Given the description of an element on the screen output the (x, y) to click on. 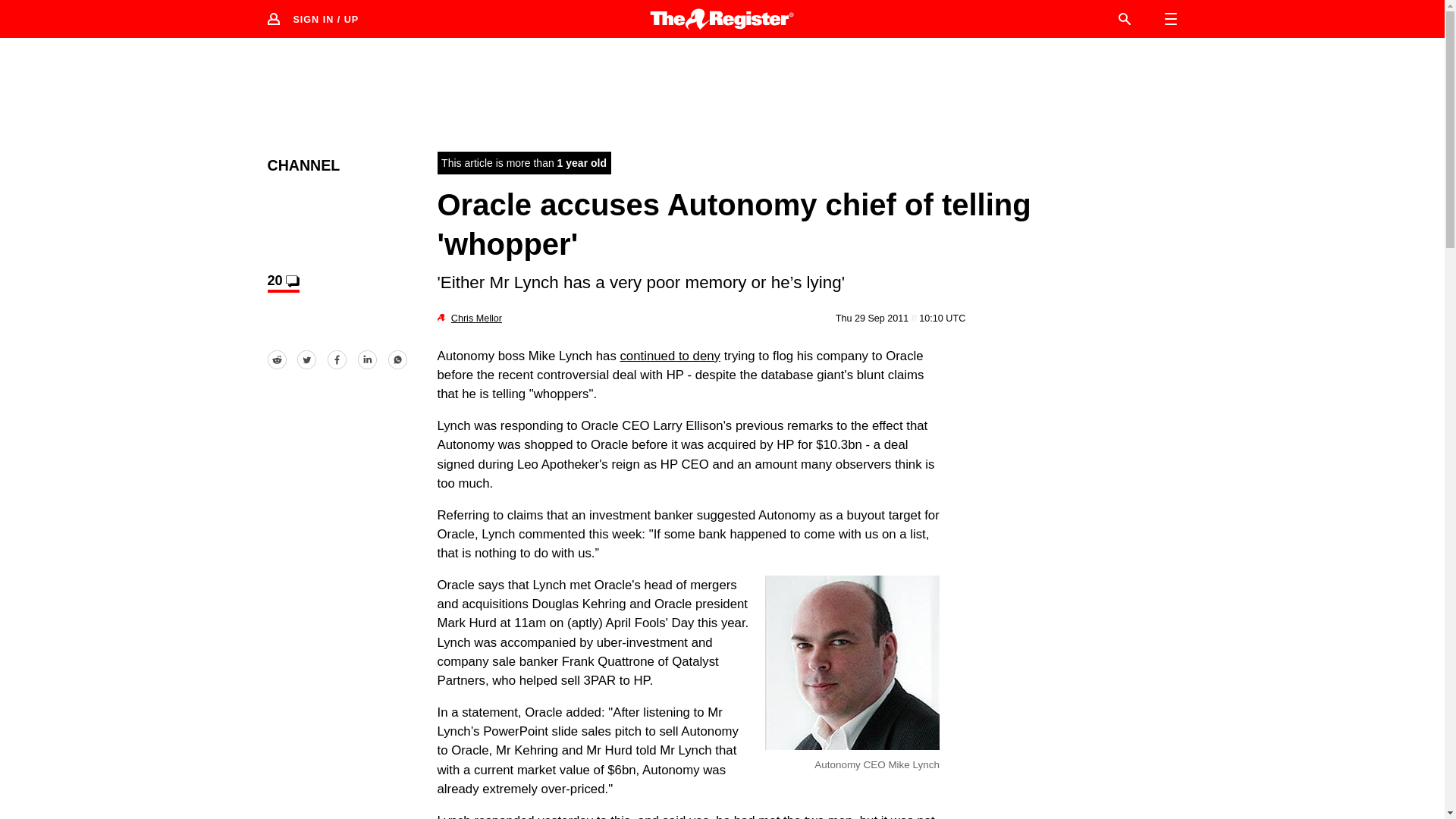
View comments on this article (282, 282)
Read more by this author (476, 318)
